Given the description of an element on the screen output the (x, y) to click on. 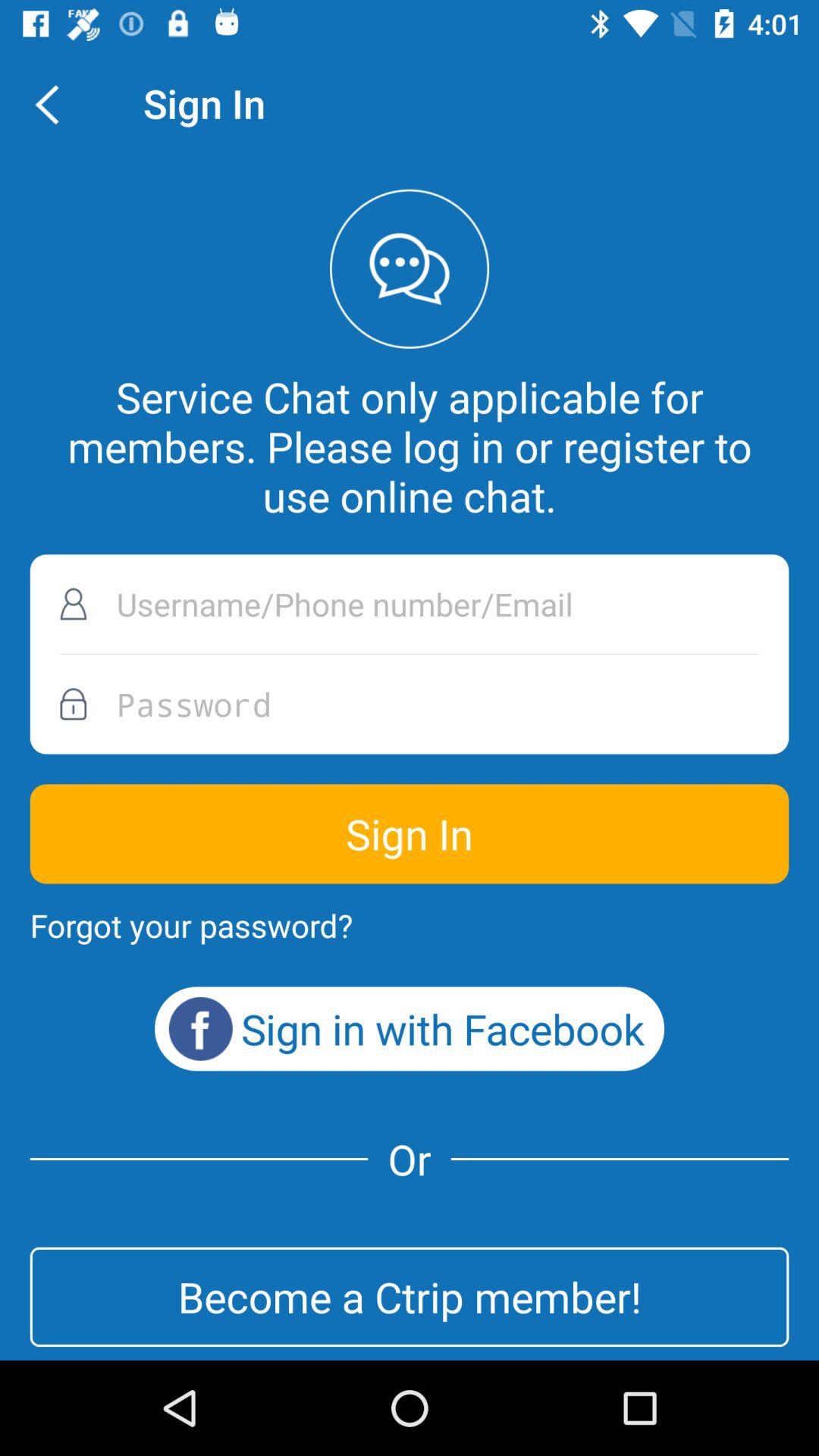
open item to the left of the sign in (55, 103)
